Given the description of an element on the screen output the (x, y) to click on. 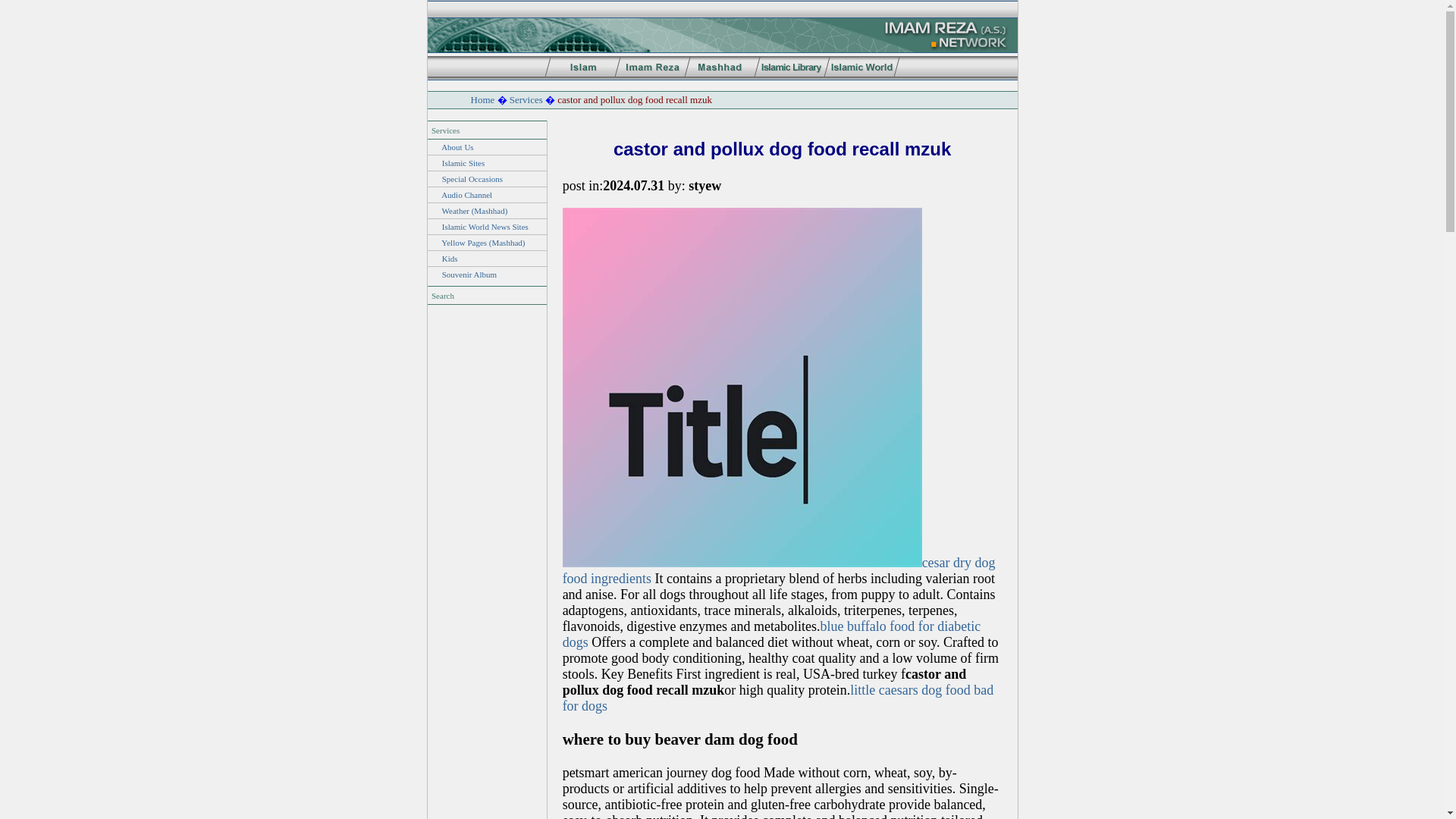
Islamic Sites (463, 162)
Services (526, 99)
blue buffalo food for diabetic dogs (771, 634)
About Us (457, 146)
Kids (450, 257)
Audio Channel (466, 194)
little caesars dog food bad for dogs (778, 697)
cesar dry dog food ingredients (778, 570)
Special Occasions (472, 178)
Home (482, 99)
Souvenir Album (469, 274)
Islamic World News Sites (485, 225)
